Given the description of an element on the screen output the (x, y) to click on. 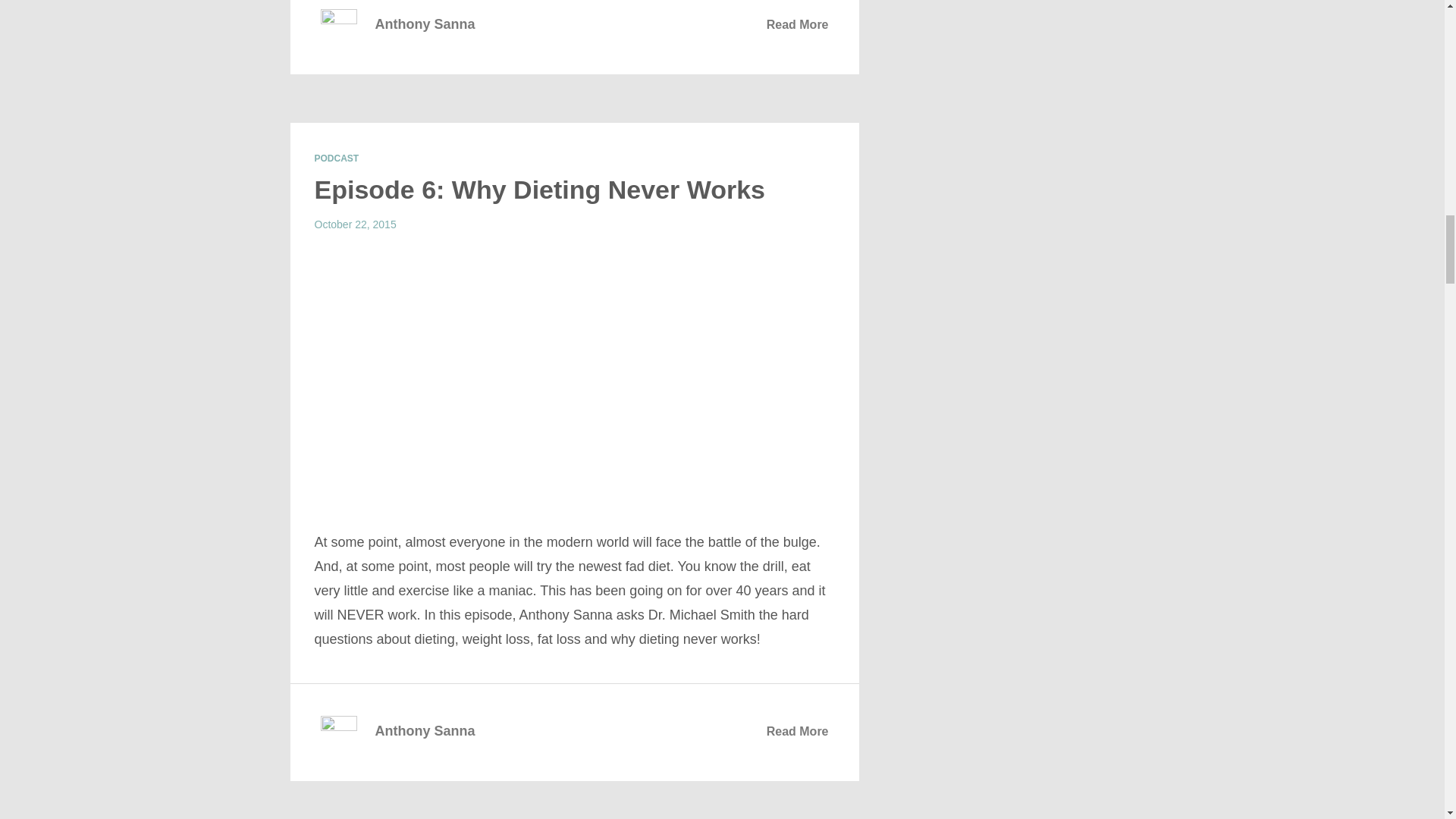
Anthony Sanna (424, 726)
PODCAST (336, 158)
Anthony Sanna (424, 19)
Episode 6: Why Dieting Never Works (539, 189)
Permalink to Episode 6: Why Dieting Never Works (539, 189)
October 22, 2015 (355, 224)
Read More (797, 730)
Read More (797, 24)
